Given the description of an element on the screen output the (x, y) to click on. 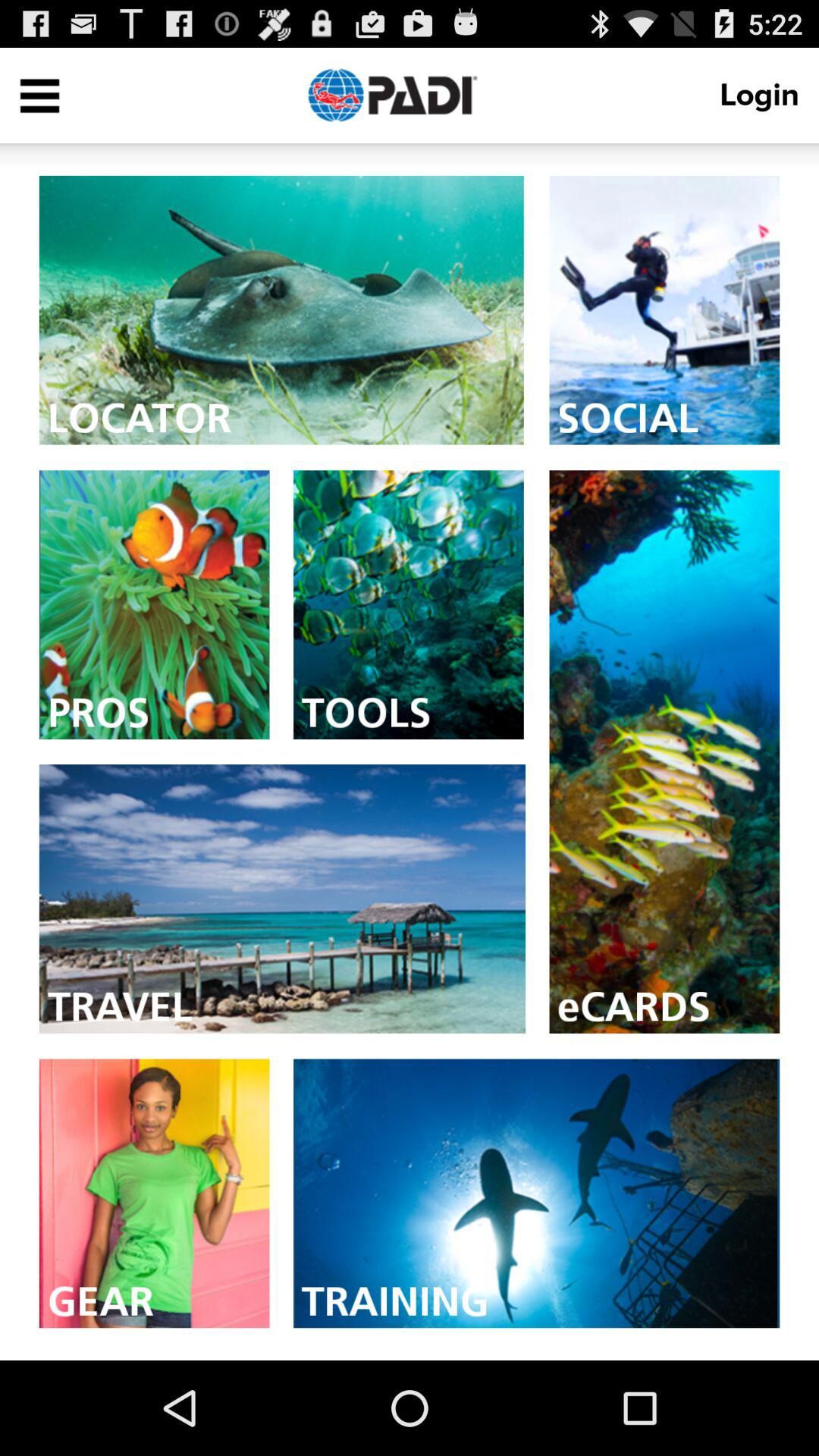
view image from social category (664, 309)
